Given the description of an element on the screen output the (x, y) to click on. 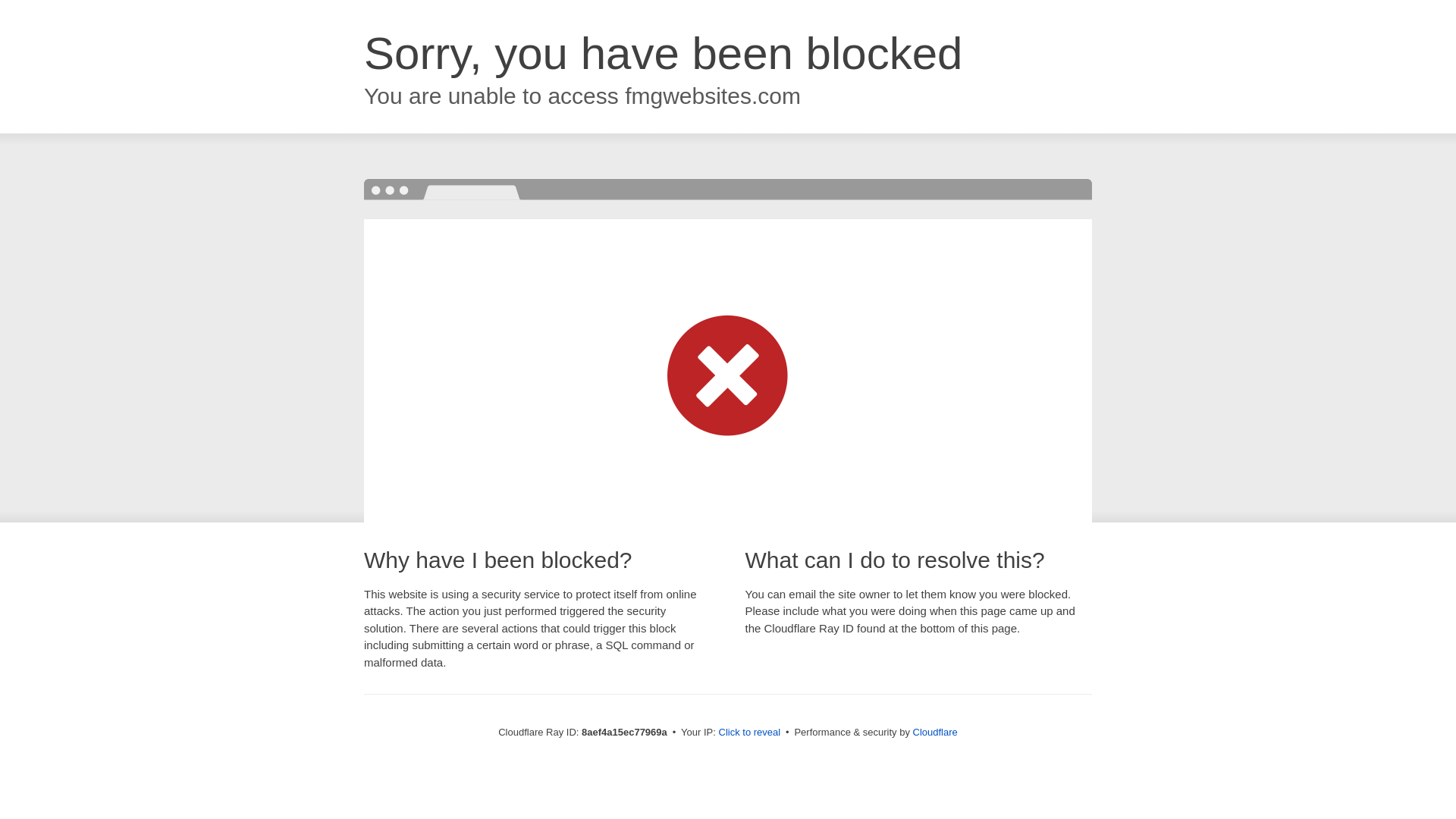
Click to reveal (749, 732)
Cloudflare (935, 731)
